Given the description of an element on the screen output the (x, y) to click on. 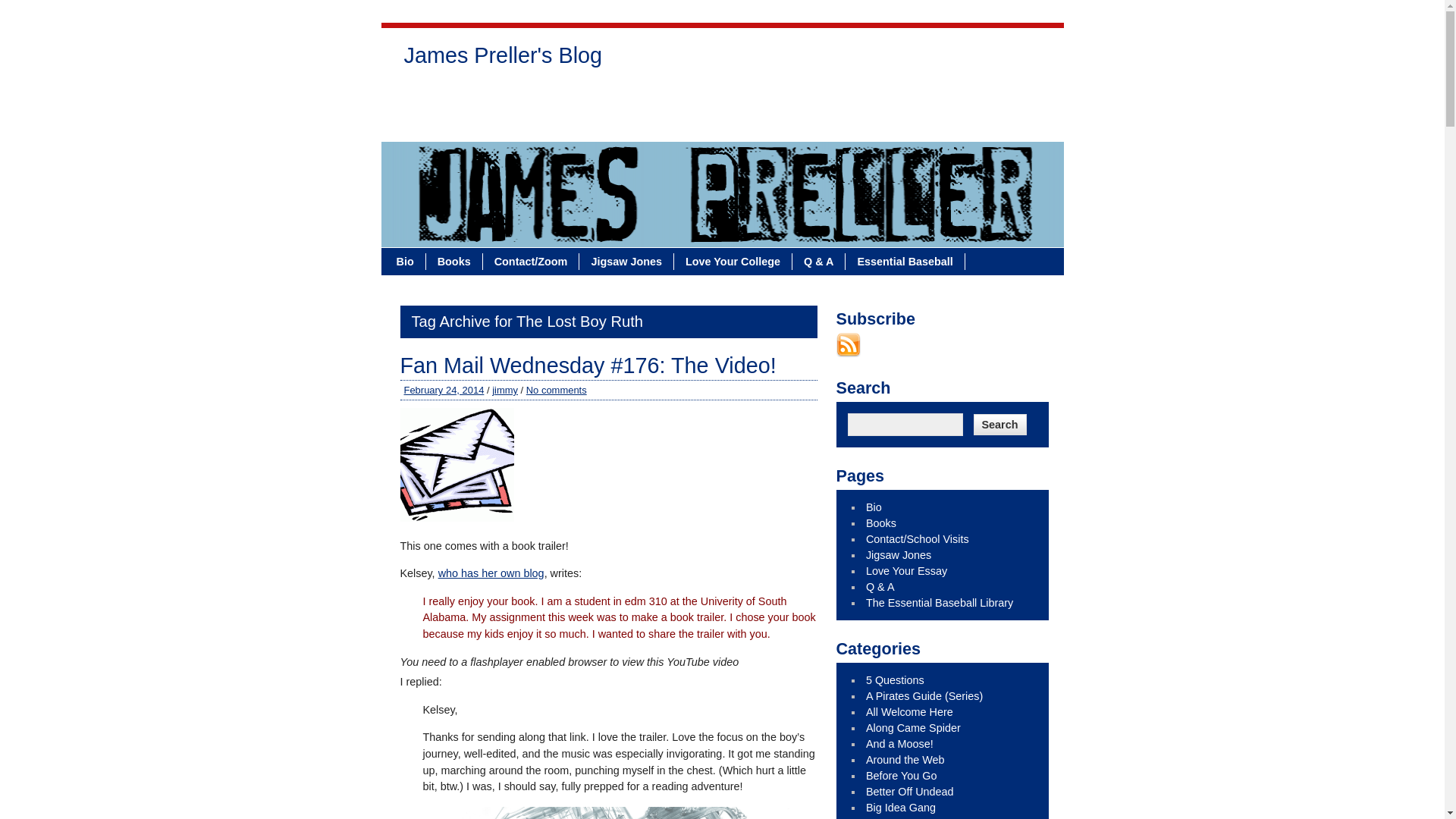
16-17 (612, 812)
Jigsaw Jones (680, 96)
Search (1000, 424)
who has her own blog (491, 573)
Posts by jimmy (505, 389)
February 24, 2014 (443, 389)
No comments (555, 389)
Books (454, 261)
Essential Baseball (904, 261)
Love Your Essay (783, 96)
